Given the description of an element on the screen output the (x, y) to click on. 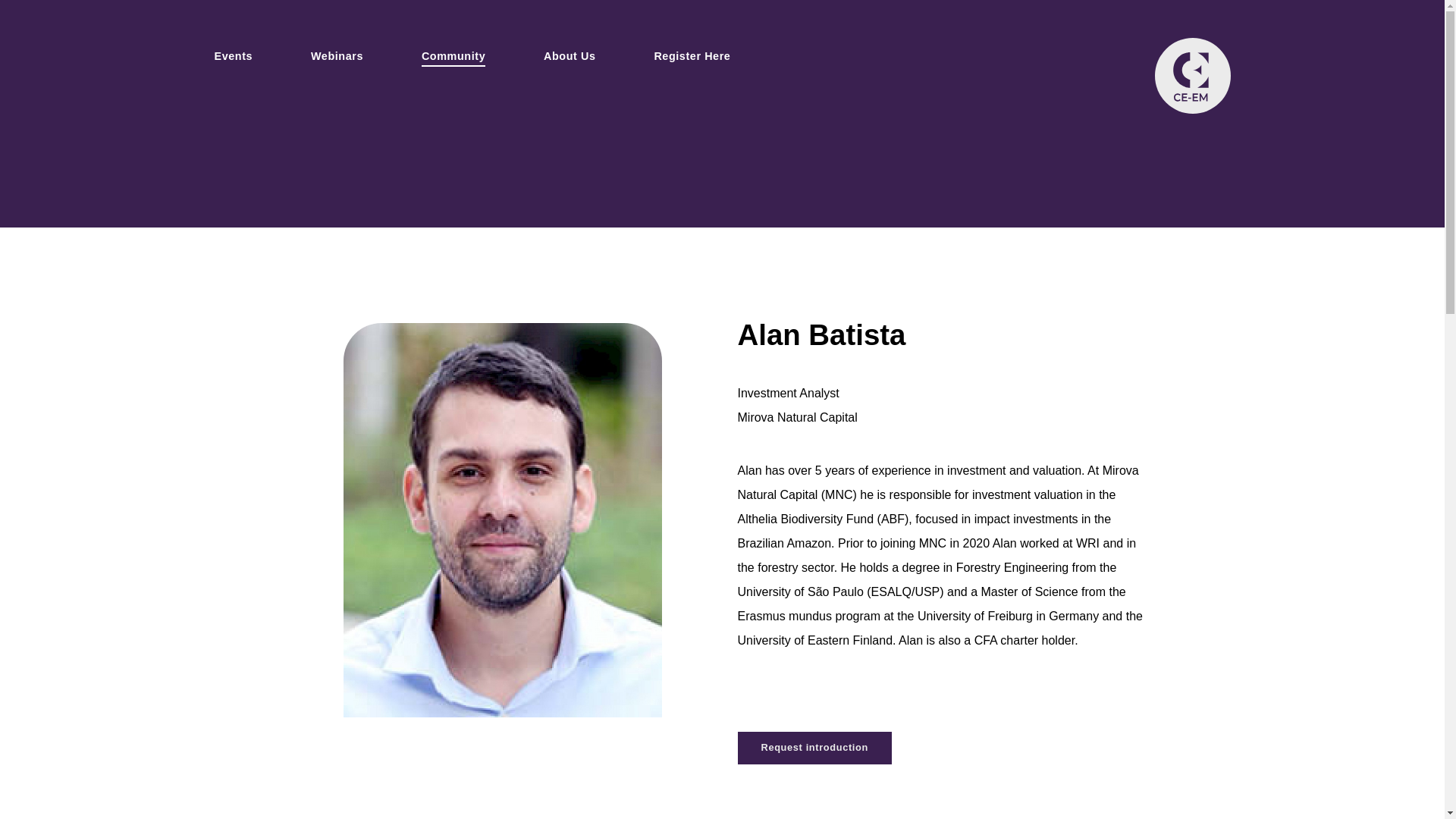
Community (453, 56)
Events (232, 56)
Register Here (691, 56)
Request introduction (813, 748)
Webinars (336, 56)
About Us (569, 56)
